Given the description of an element on the screen output the (x, y) to click on. 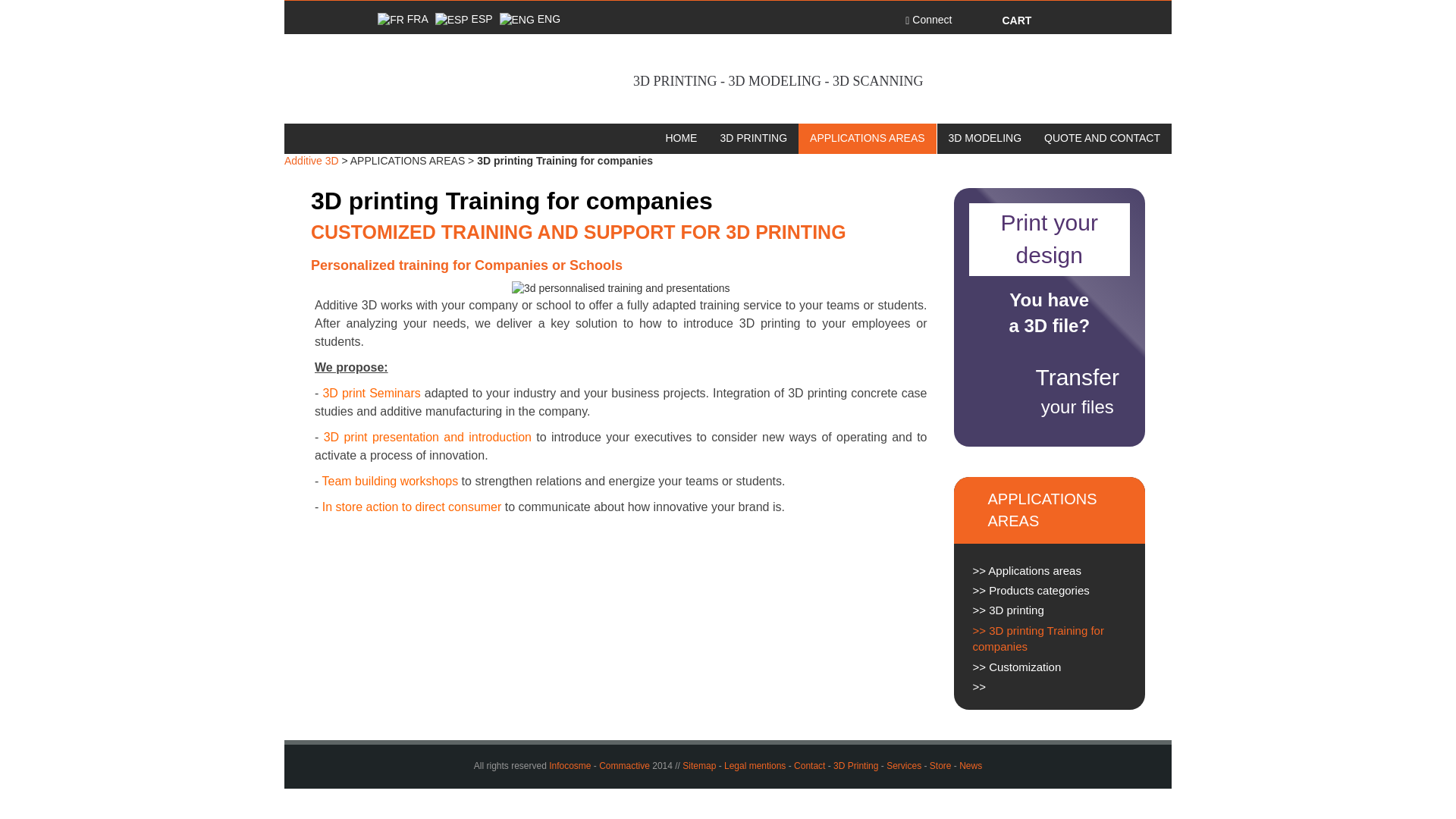
HOME (681, 137)
ENG (529, 19)
3D MODELING (985, 137)
3D PRINTING - 3D MODELING - 3D SCANNING (727, 78)
FRA (402, 19)
Additive 3D (311, 160)
 Connect (930, 19)
CART (1008, 20)
ESP (464, 19)
